Given the description of an element on the screen output the (x, y) to click on. 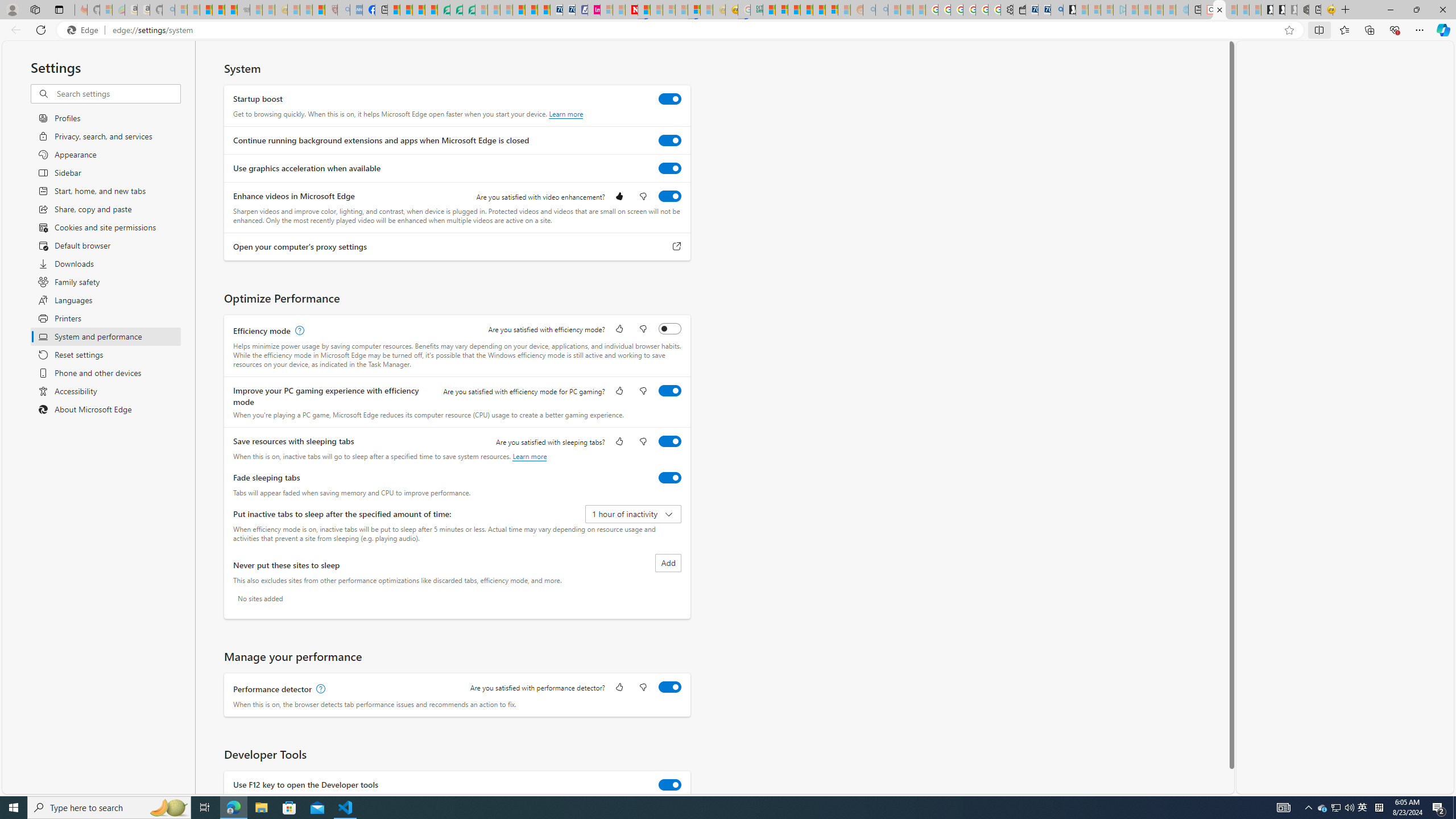
Startup boost (669, 98)
Utah sues federal government - Search - Sleeping (881, 9)
World - MSN (418, 9)
Close (1442, 9)
Split screen (1318, 29)
Local - MSN (318, 9)
Expert Portfolios (806, 9)
Address and search bar (695, 29)
